Given the description of an element on the screen output the (x, y) to click on. 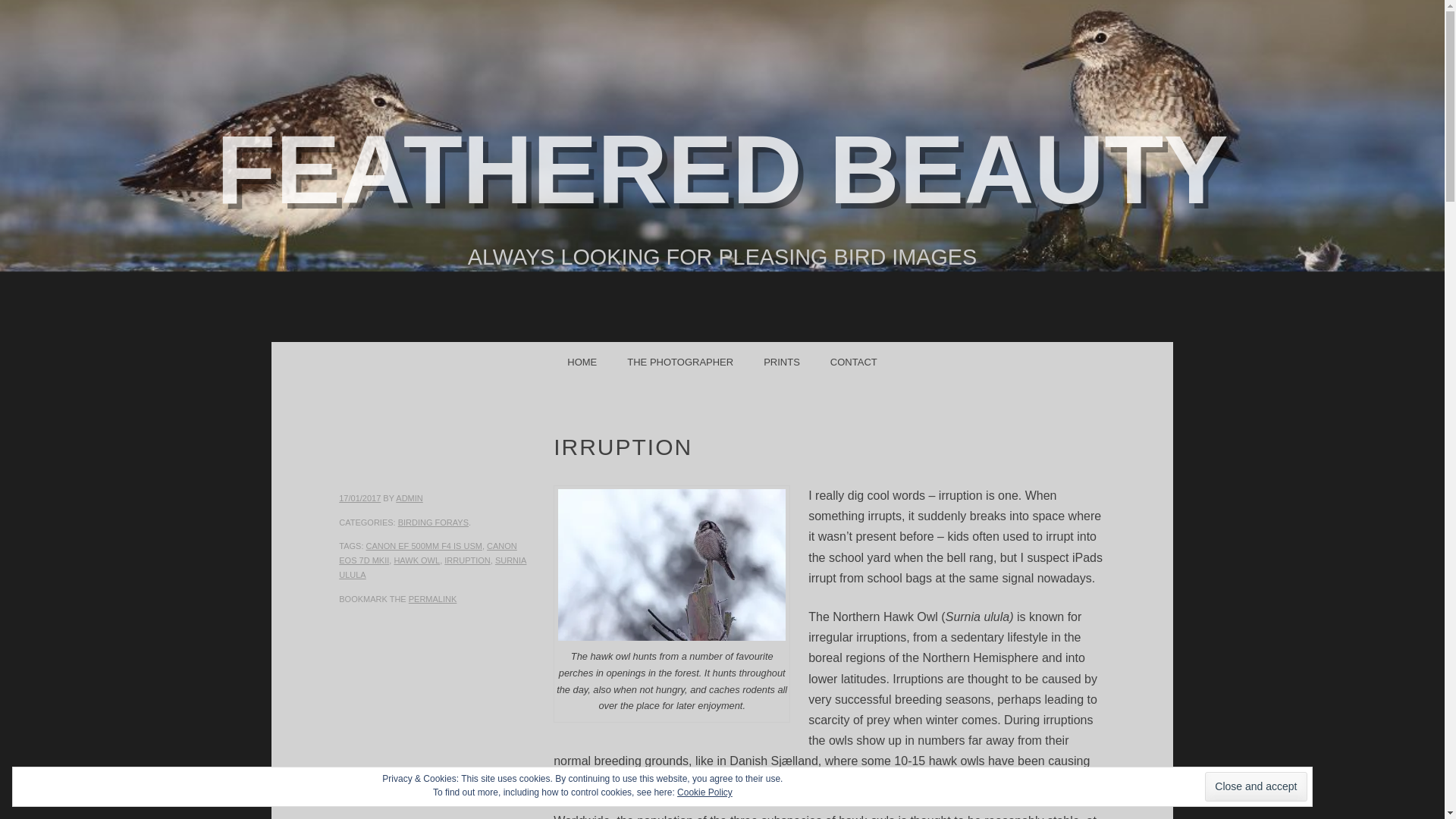
HAWK OWL (416, 560)
CONTACT (853, 360)
SKIP TO CONTENT (373, 360)
FEATHERED BEAUTY (721, 169)
Skip to content (373, 360)
SURNIA ULULA (432, 567)
PRINTS (781, 360)
get in touch (853, 360)
View all posts by admin (409, 497)
Close and accept (1255, 786)
PERMALINK (433, 598)
13:36 (359, 497)
THE PHOTOGRAPHER (679, 360)
HOME (581, 360)
ADMIN (409, 497)
